Given the description of an element on the screen output the (x, y) to click on. 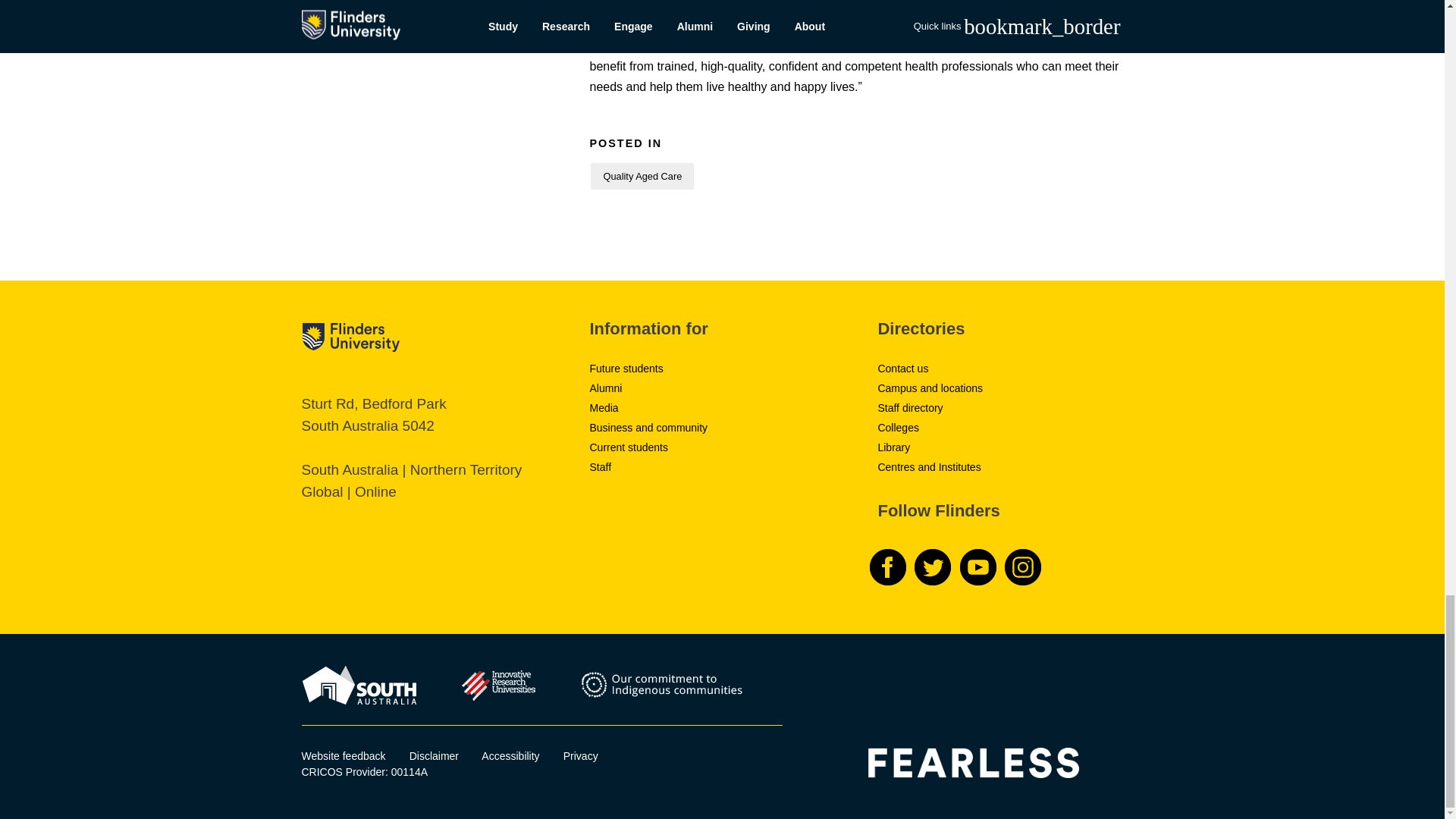
Media (603, 408)
Future students (625, 368)
Alumni (605, 387)
Staff (600, 467)
Staff directory (909, 408)
Campus and locations (929, 387)
Current students (628, 447)
Business and community (648, 427)
Contact us (902, 368)
Quality Aged Care (642, 175)
